Given the description of an element on the screen output the (x, y) to click on. 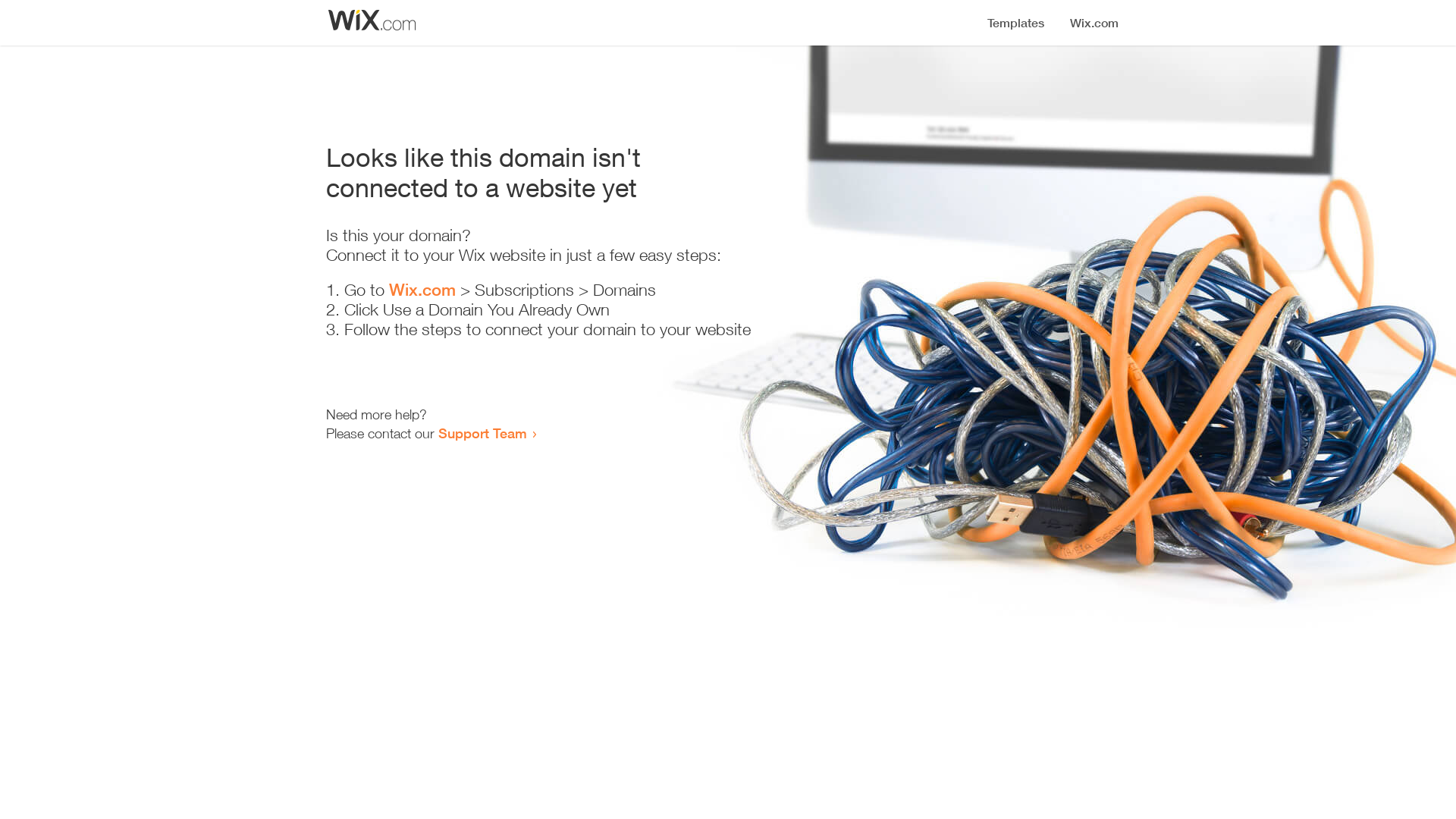
Wix.com Element type: text (422, 289)
Support Team Element type: text (482, 432)
